Given the description of an element on the screen output the (x, y) to click on. 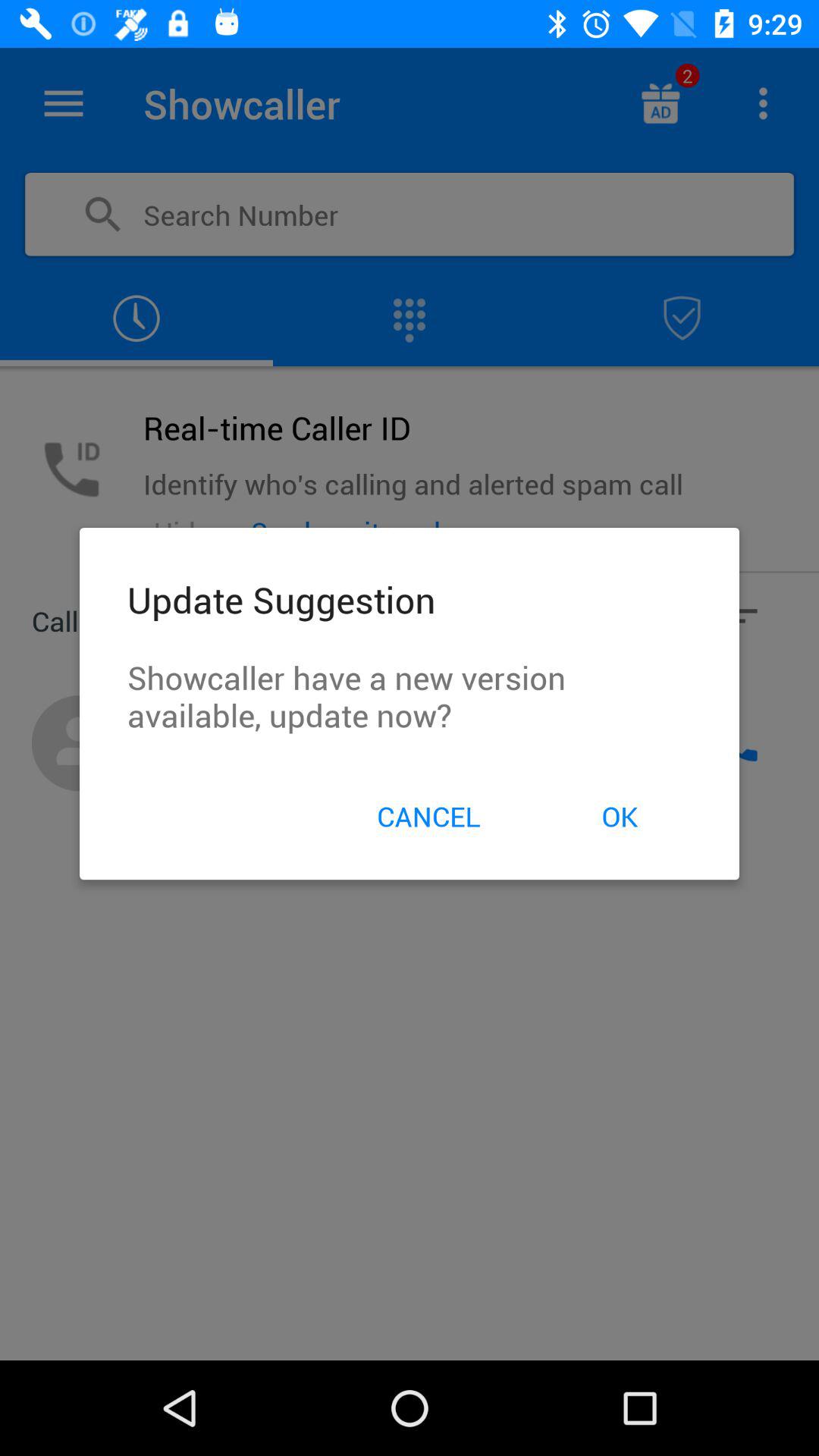
launch the icon next to cancel (619, 815)
